Given the description of an element on the screen output the (x, y) to click on. 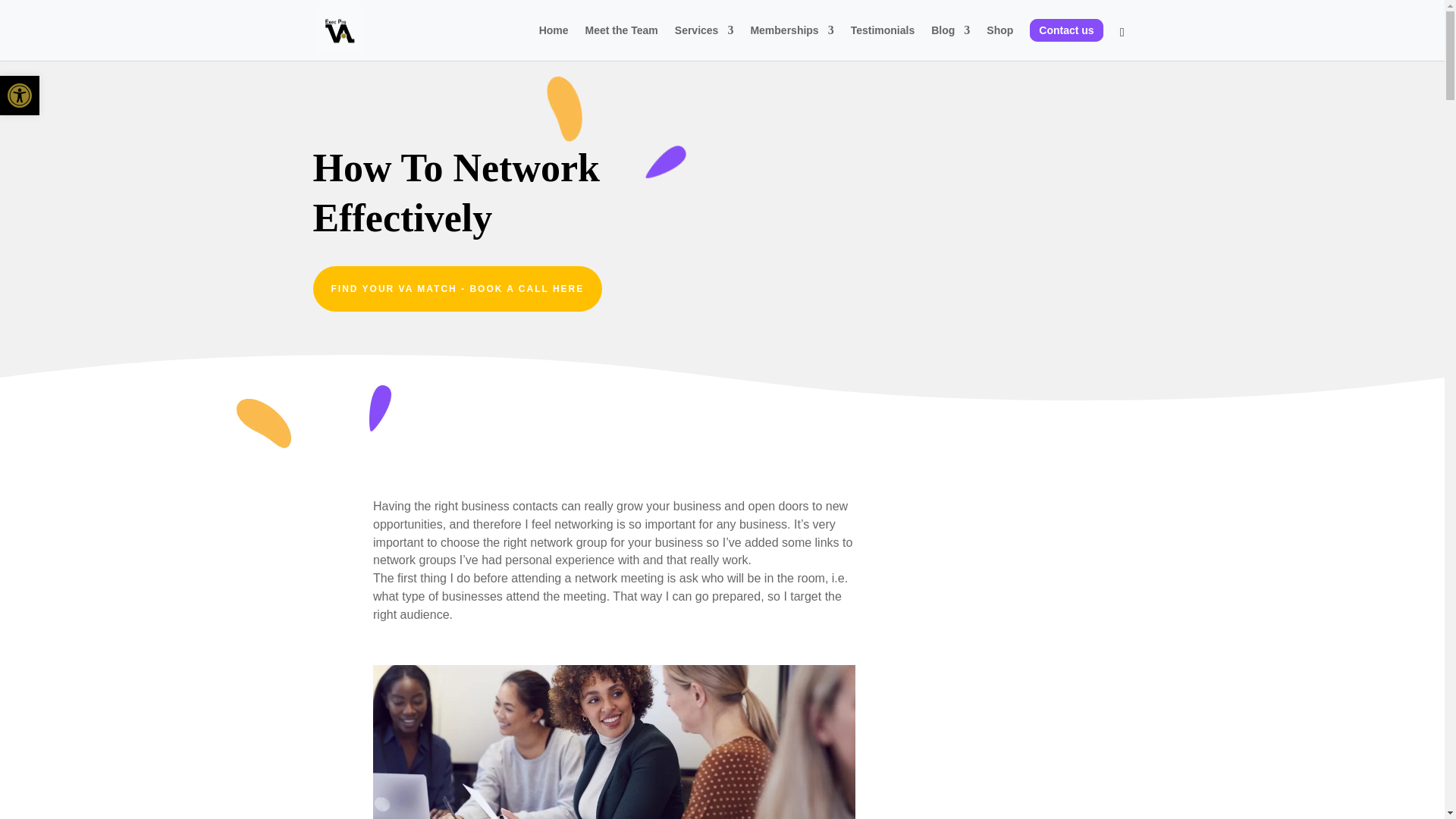
Home (553, 42)
Memberships (790, 42)
Services (704, 42)
FIND YOUR VA MATCH - BOOK A CALL HERE (457, 289)
Accessibility Tools (19, 95)
